Given the description of an element on the screen output the (x, y) to click on. 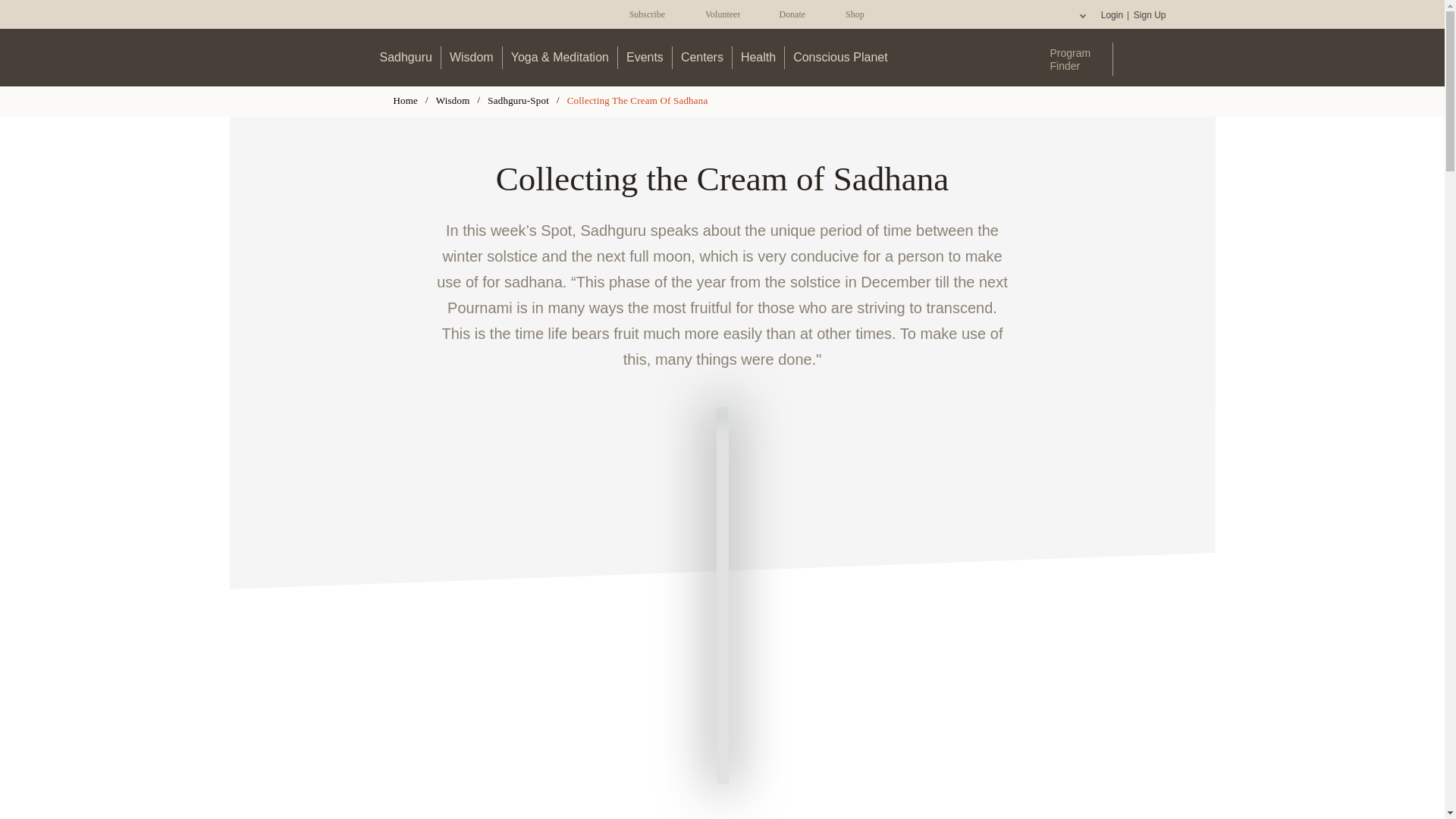
Sign Up (1149, 15)
Login (1112, 15)
Sadhguru (406, 56)
Wisdom (471, 56)
